Given the description of an element on the screen output the (x, y) to click on. 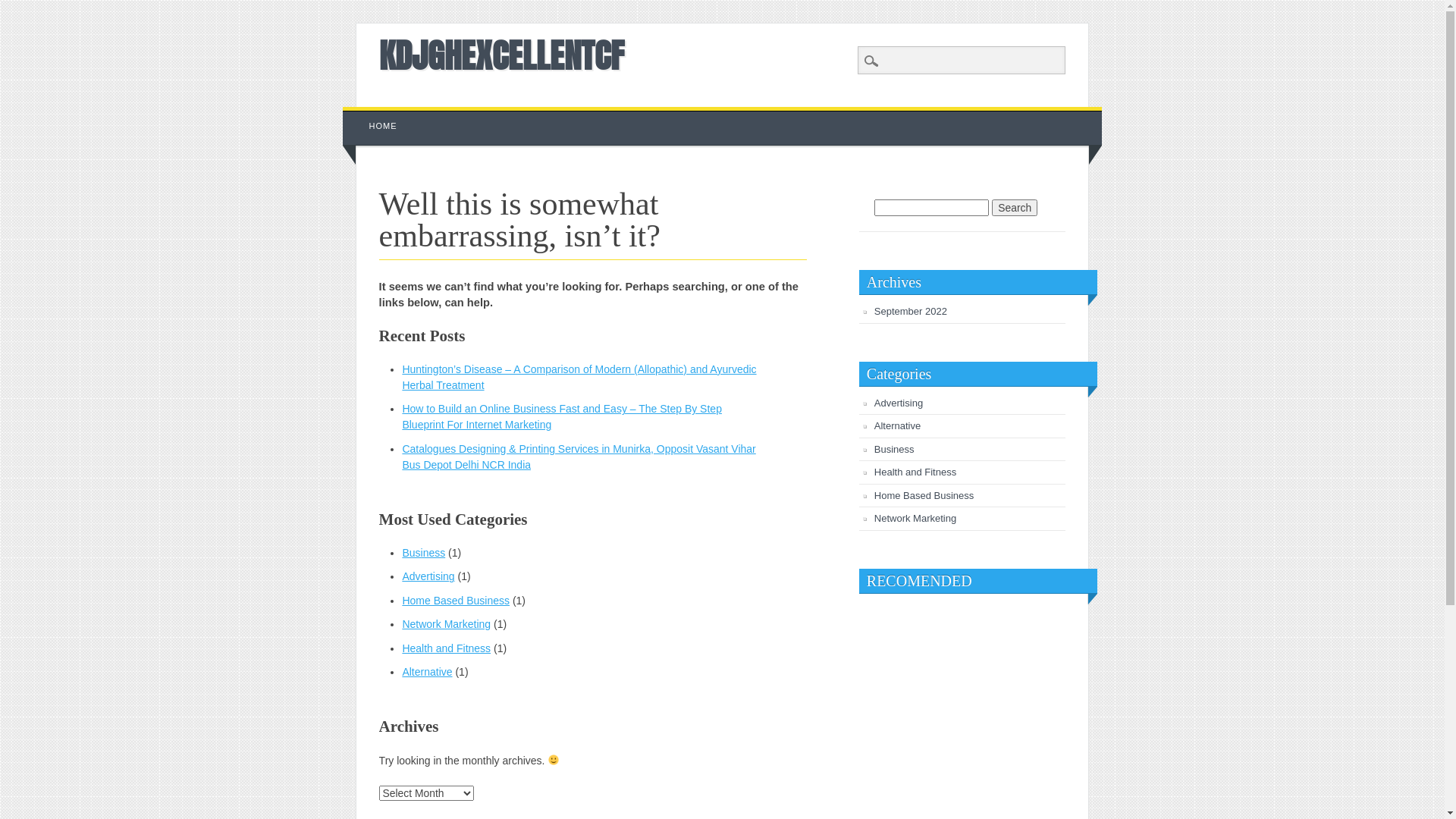
KDJGHEXCELLENTCF Element type: text (501, 55)
Advertising Element type: text (427, 576)
Alternative Element type: text (897, 425)
Skip to content Element type: text (377, 114)
HOME Element type: text (383, 125)
Business Element type: text (423, 552)
Network Marketing Element type: text (915, 518)
Network Marketing Element type: text (445, 624)
Advertising Element type: text (898, 402)
Business Element type: text (894, 449)
Health and Fitness Element type: text (445, 648)
Health and Fitness Element type: text (915, 471)
Home Based Business Element type: text (924, 495)
September 2022 Element type: text (910, 310)
Search Element type: text (1014, 207)
Alternative Element type: text (426, 671)
Home Based Business Element type: text (455, 600)
Search Element type: text (22, 8)
